Given the description of an element on the screen output the (x, y) to click on. 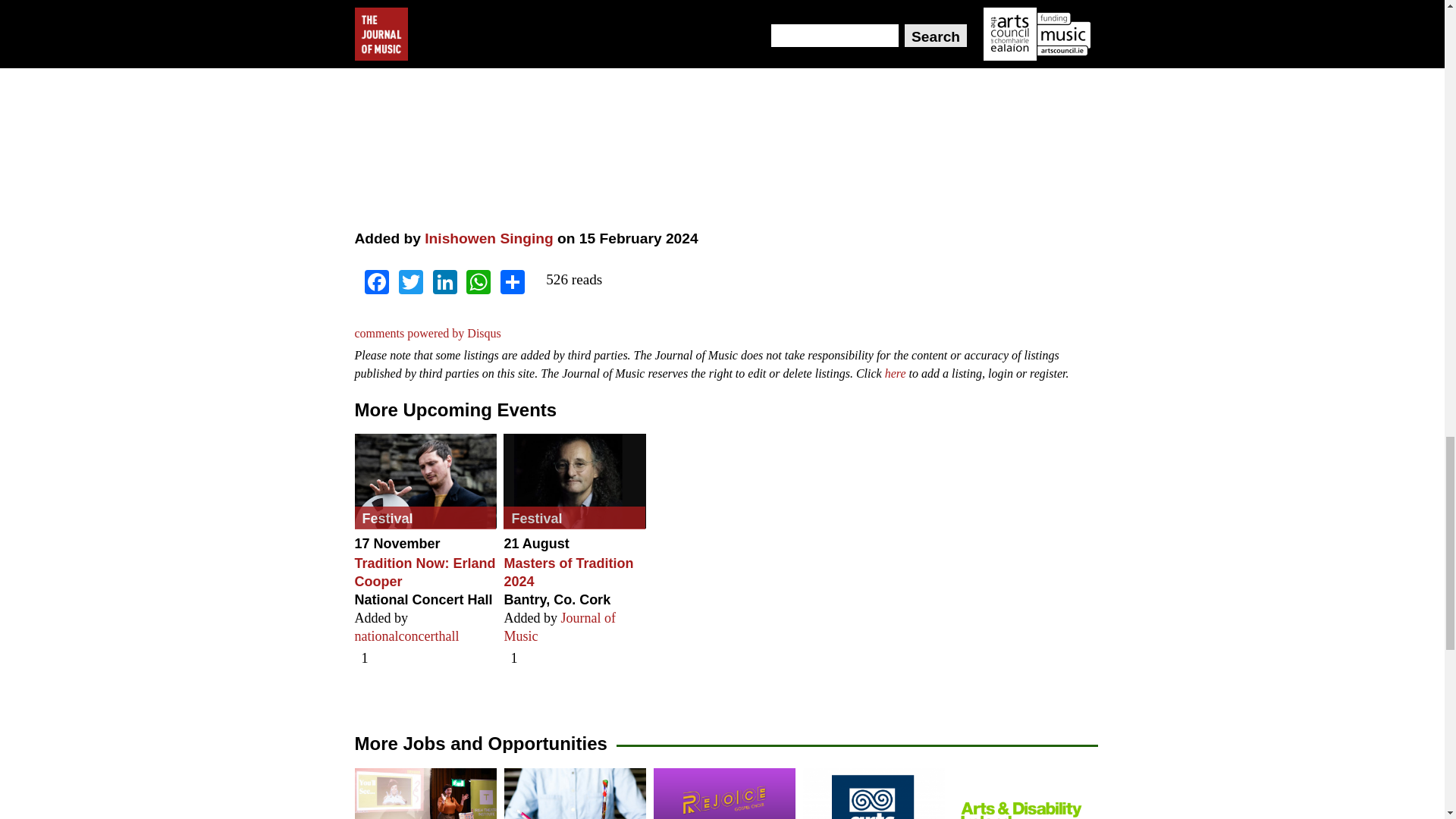
Small Capital Grants Programme (873, 793)
Tradition Now: Erland Cooper (425, 481)
Highlights of the Inishowen Singing Weekend 2023 (590, 105)
Masters of Tradition 2024 (574, 481)
Arts and Disability Connect (1023, 793)
Rejoice Gospel Choir Auditions (723, 793)
